Given the description of an element on the screen output the (x, y) to click on. 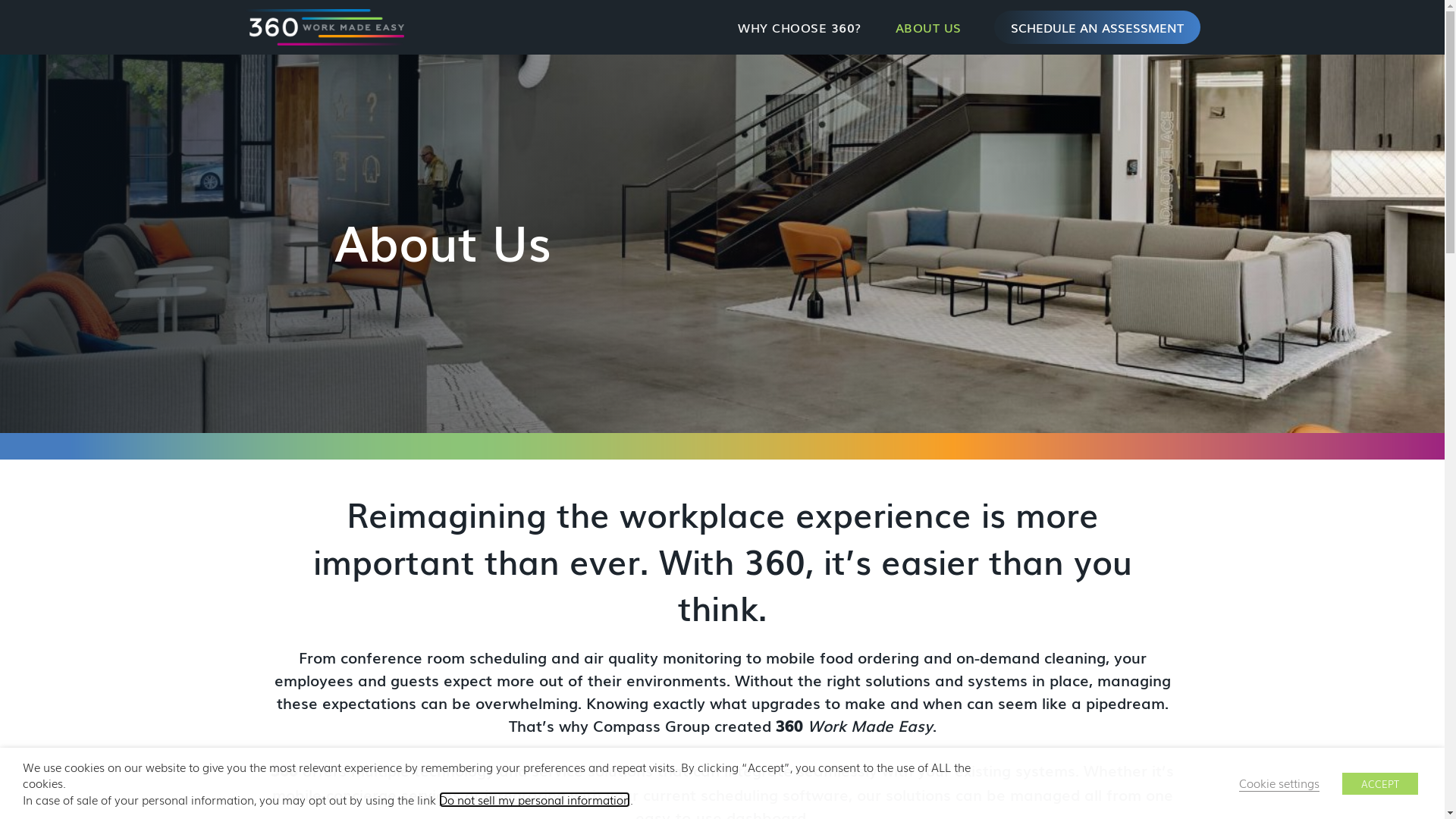
Cookie settings Element type: text (1279, 783)
Do not sell my personal information Element type: text (534, 799)
WHY CHOOSE 360? Element type: text (799, 26)
Compass360_Logo_Dark Element type: hover (323, 27)
ACCEPT Element type: text (1380, 783)
SCHEDULE AN ASSESSMENT Element type: text (1097, 26)
ABOUT US Element type: text (928, 26)
